Given the description of an element on the screen output the (x, y) to click on. 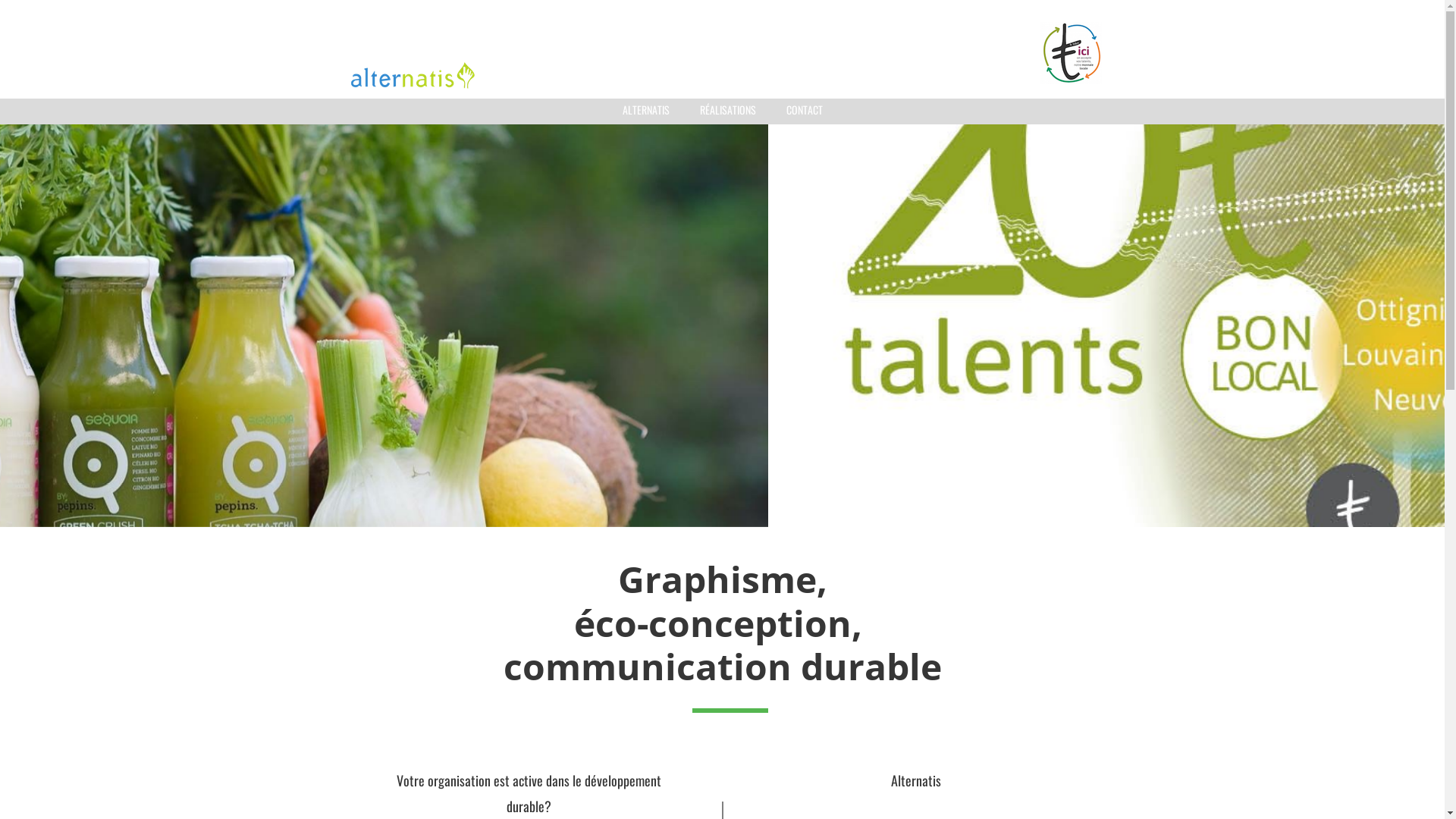
CONTACT Element type: text (803, 109)
ALTERNATIS Element type: text (645, 109)
